Given the description of an element on the screen output the (x, y) to click on. 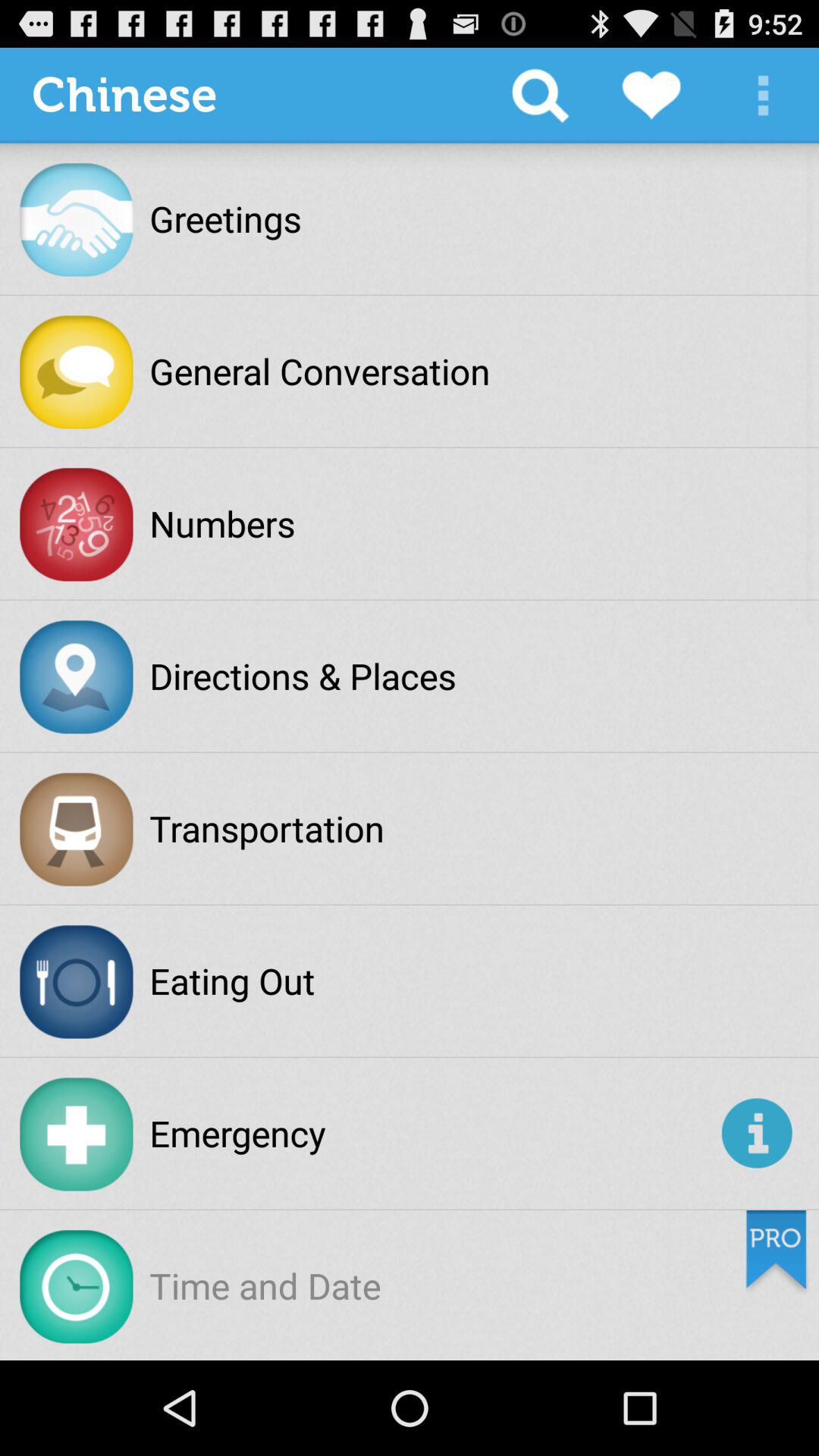
turn on the greetings item (225, 218)
